Given the description of an element on the screen output the (x, y) to click on. 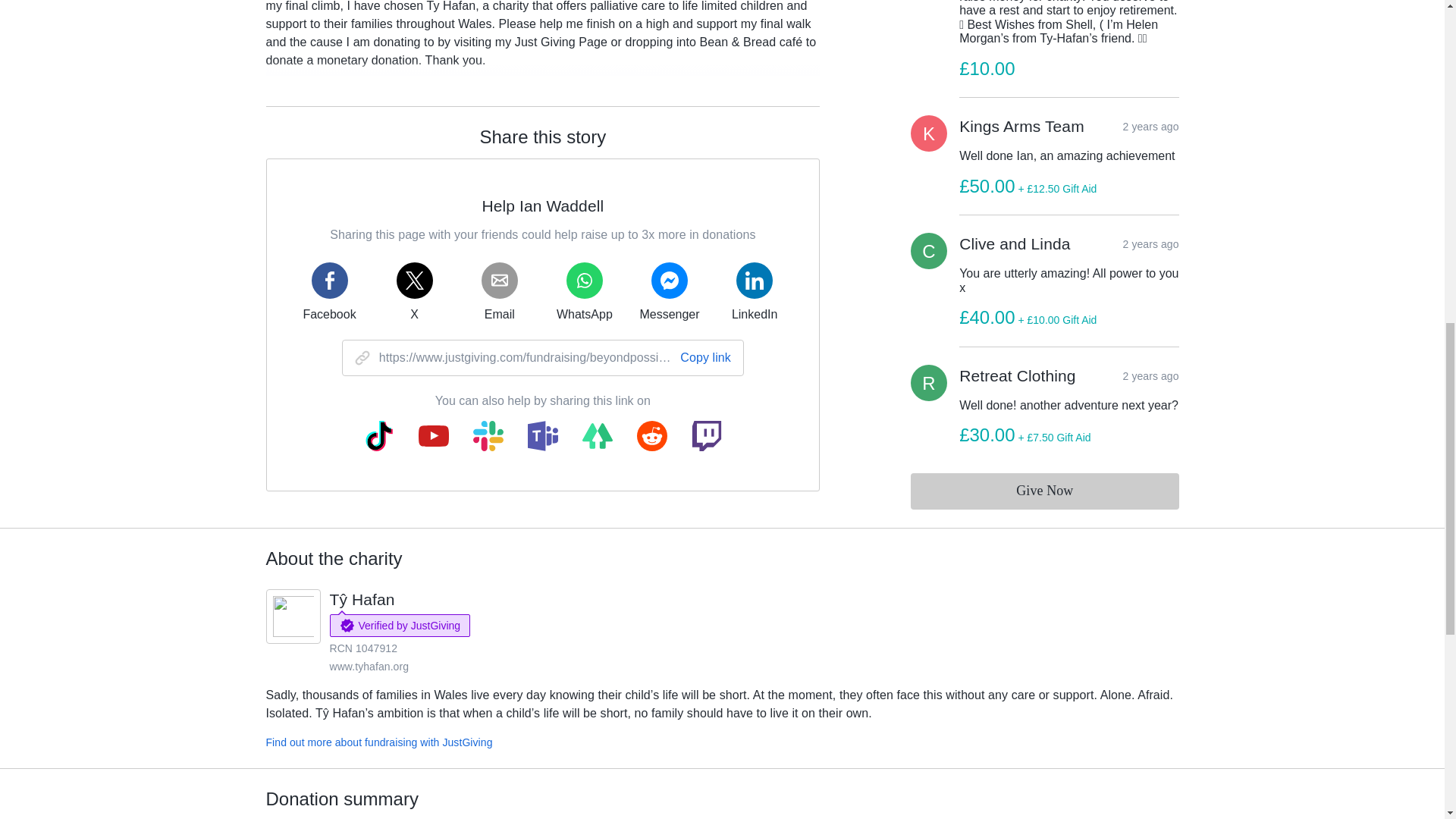
WhatsApp (584, 291)
Email (499, 291)
Messenger (669, 291)
Find out more about fundraising with JustGiving (378, 742)
www.tyhafan.org (369, 666)
Facebook (329, 291)
X (414, 291)
LinkedIn (754, 291)
